Given the description of an element on the screen output the (x, y) to click on. 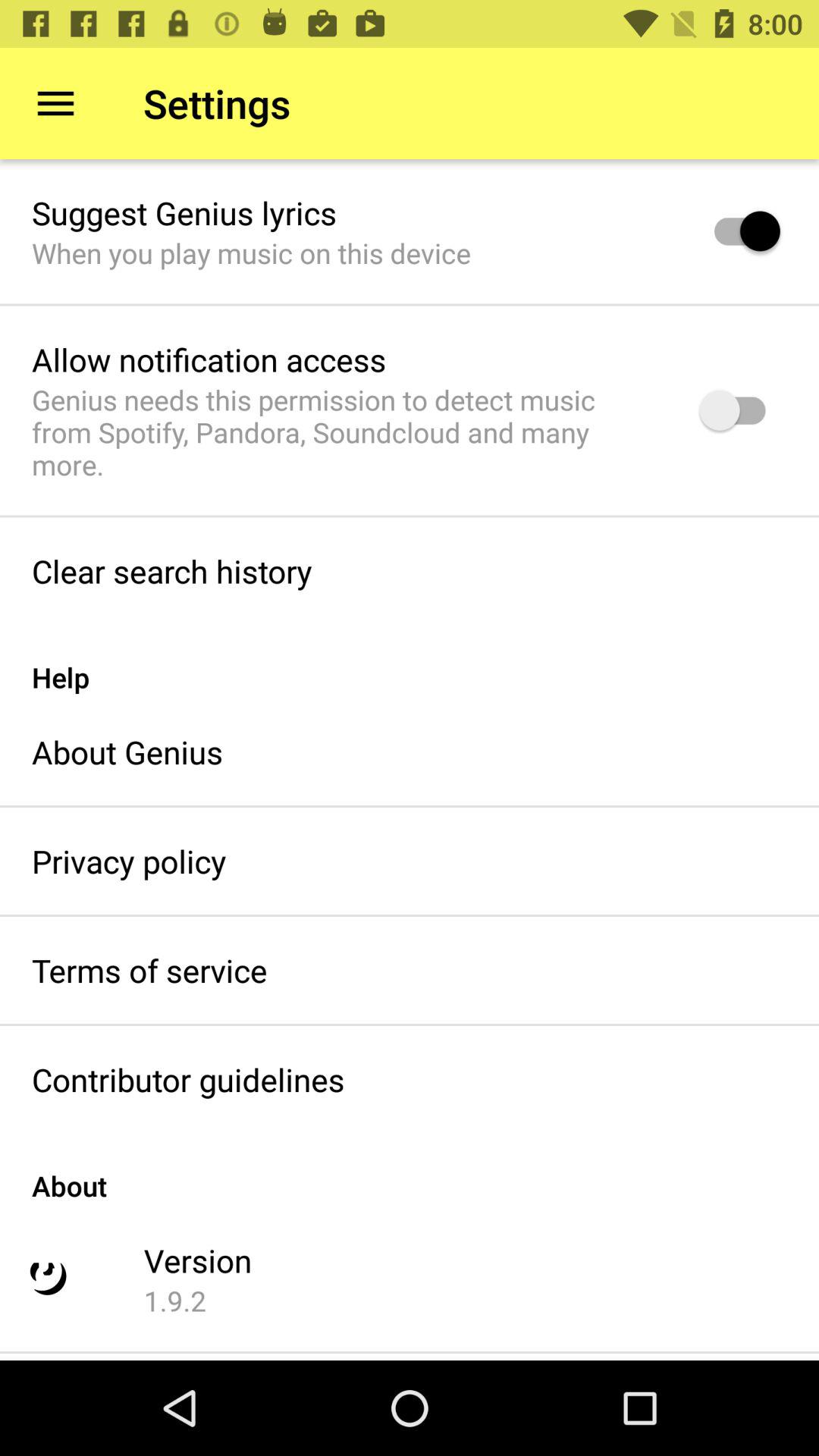
press the icon above allow notification access (250, 252)
